Given the description of an element on the screen output the (x, y) to click on. 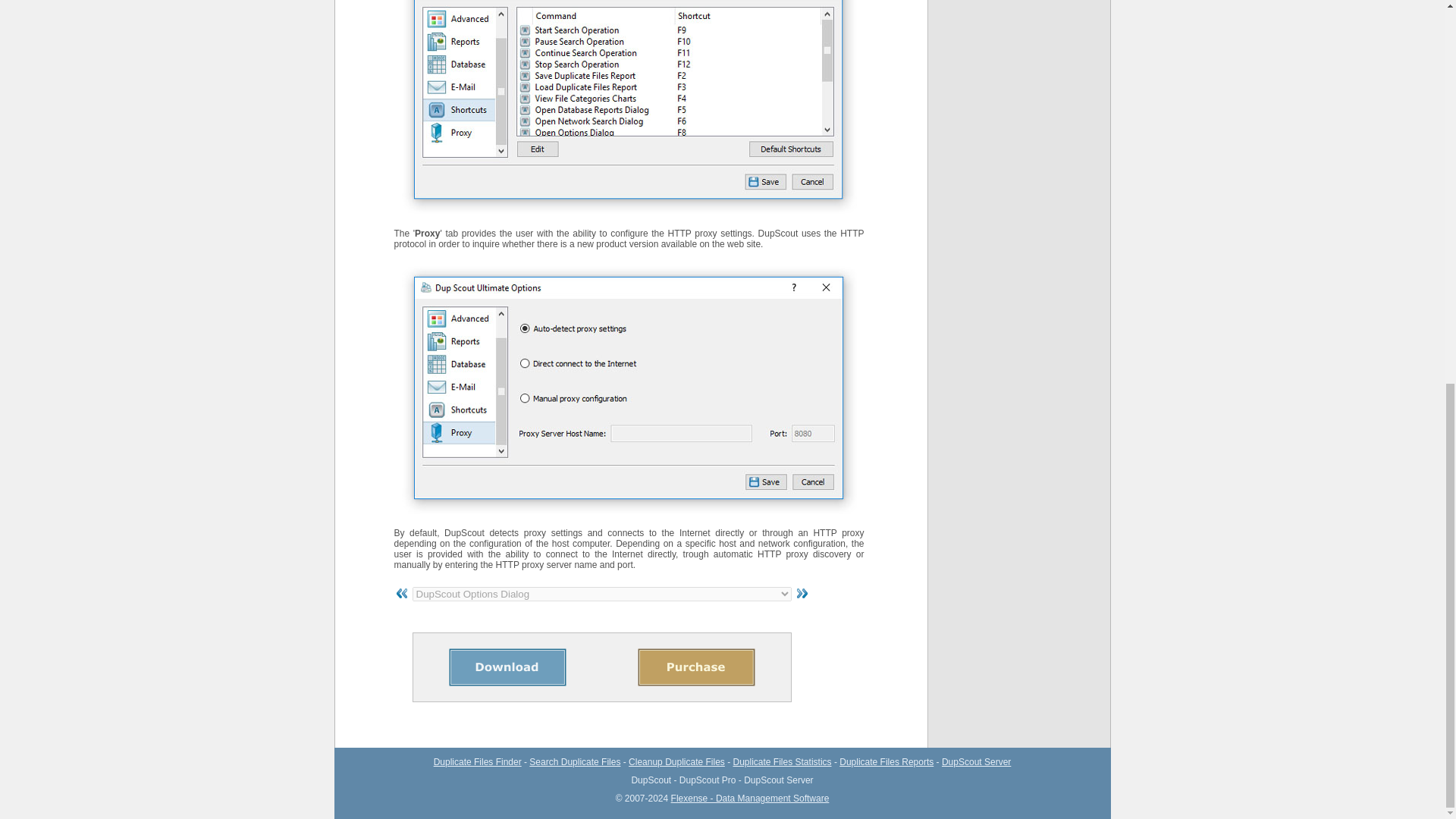
Search Duplicate Files (574, 761)
Next Page (801, 593)
Cleanup Duplicate Files (676, 761)
Duplicate Files Finder (477, 761)
Previous Page (402, 593)
